Given the description of an element on the screen output the (x, y) to click on. 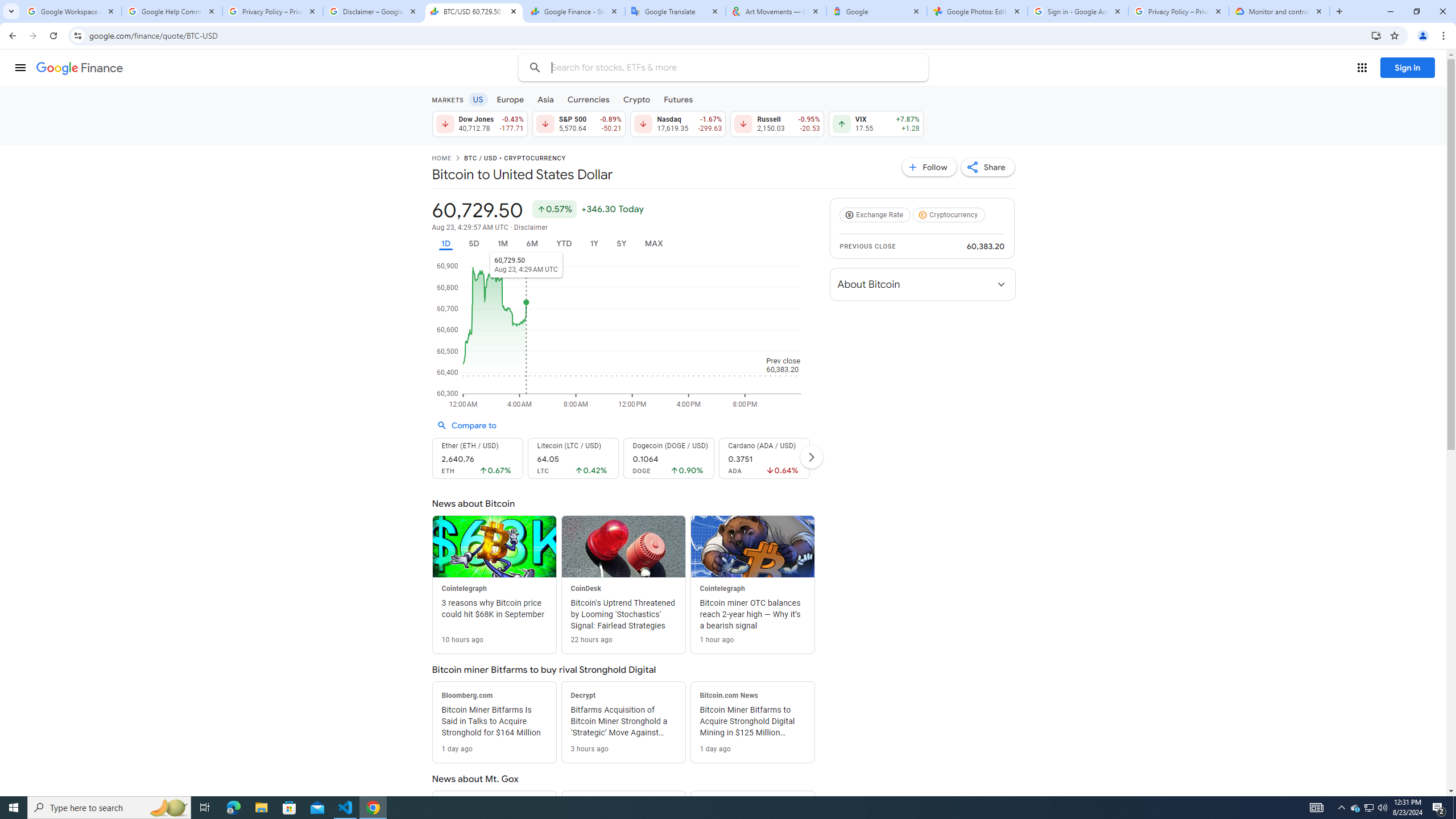
Nasdaq 17,619.35 Down by 1.67% -299.63 (678, 123)
Asia (545, 99)
US (477, 99)
1M (501, 243)
Currencies (588, 99)
1D (445, 243)
VIX 17.55 Up by 7.87% +1.28 (875, 123)
YTD (563, 243)
Dow Jones 40,712.78 Down by 0.43% -177.71 (478, 123)
